Given the description of an element on the screen output the (x, y) to click on. 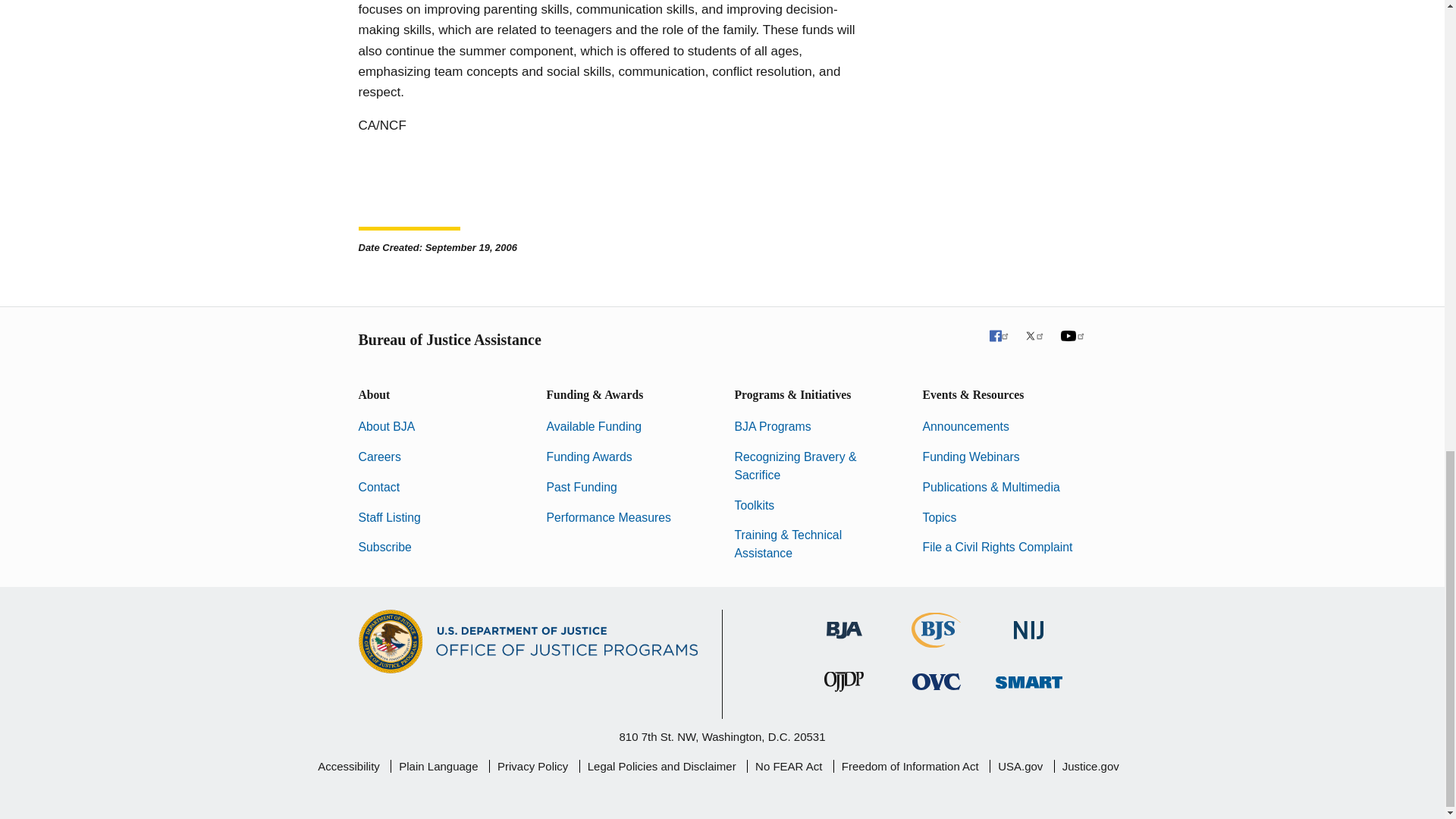
Contact (378, 486)
Careers (379, 456)
About BJA (386, 426)
Subscribe (384, 546)
Staff Listing (389, 517)
Available Funding (594, 426)
